Given the description of an element on the screen output the (x, y) to click on. 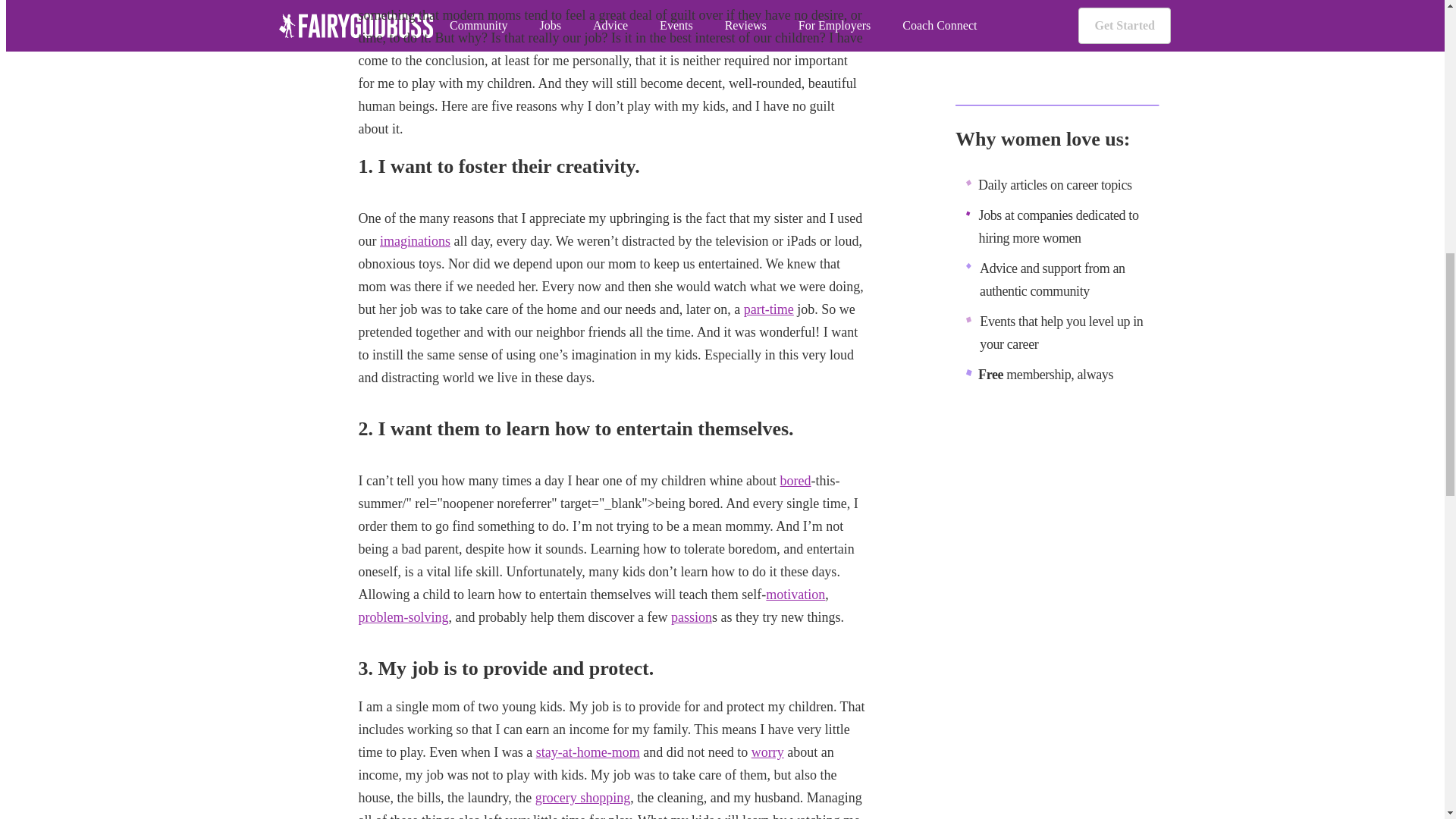
worry (767, 752)
bored (795, 480)
part-time (768, 309)
passion (691, 616)
imaginations (414, 240)
grocery shopping (582, 797)
motivation (795, 594)
problem-solving (403, 616)
stay-at-home-mom (587, 752)
